Given the description of an element on the screen output the (x, y) to click on. 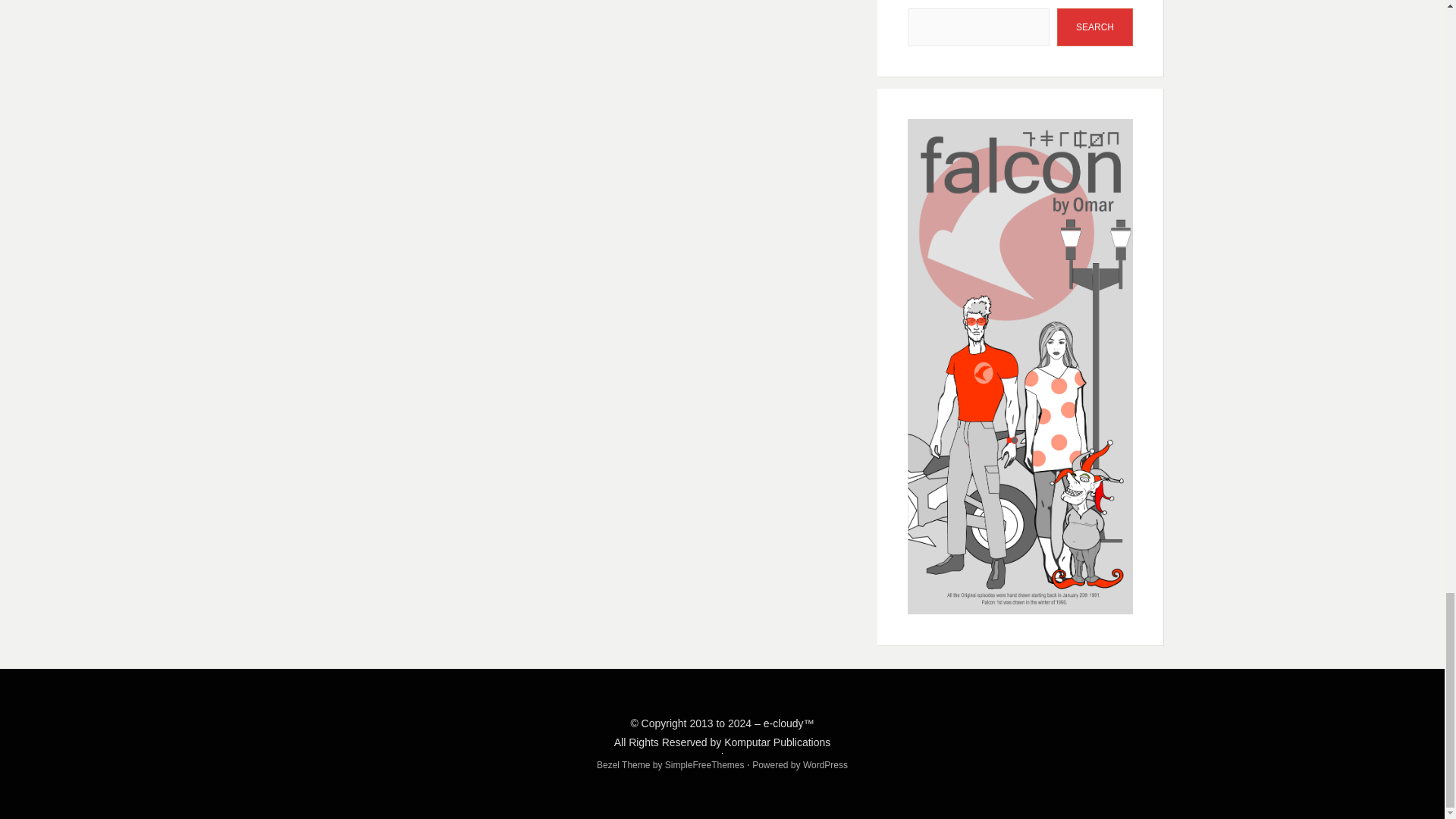
WordPress (825, 765)
SimpleFreeThemes (704, 765)
